Given the description of an element on the screen output the (x, y) to click on. 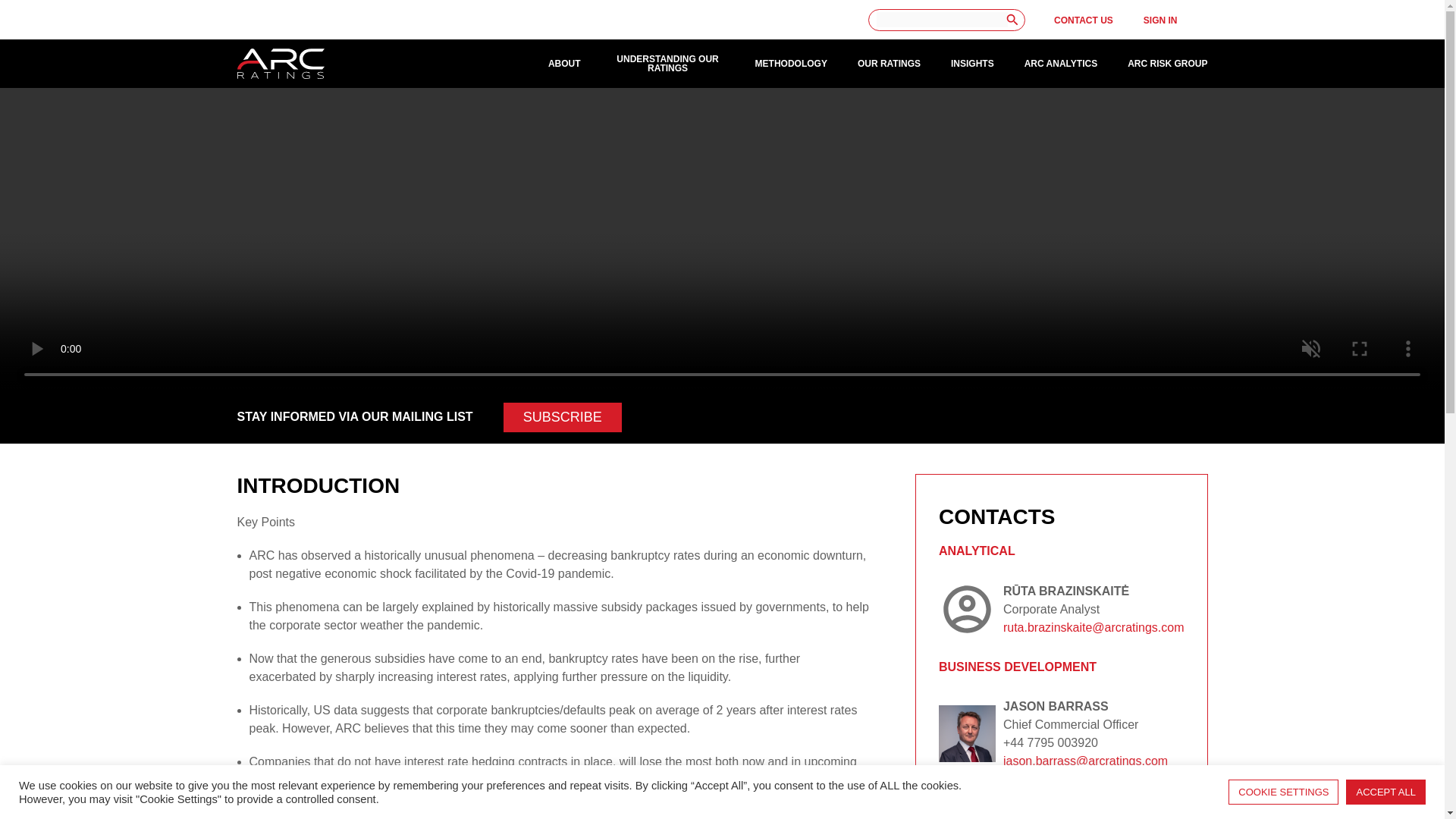
ARC ANALYTICS (1061, 62)
Search for: (941, 19)
OUR RATINGS (888, 62)
SIGN IN (1159, 20)
UNDERSTANDING OUR RATINGS (668, 63)
ABOUT (564, 62)
Search (1012, 19)
CONTACT US (1083, 20)
INSIGHTS (972, 62)
ARC RISK GROUP (1166, 62)
METHODOLOGY (791, 62)
